Given the description of an element on the screen output the (x, y) to click on. 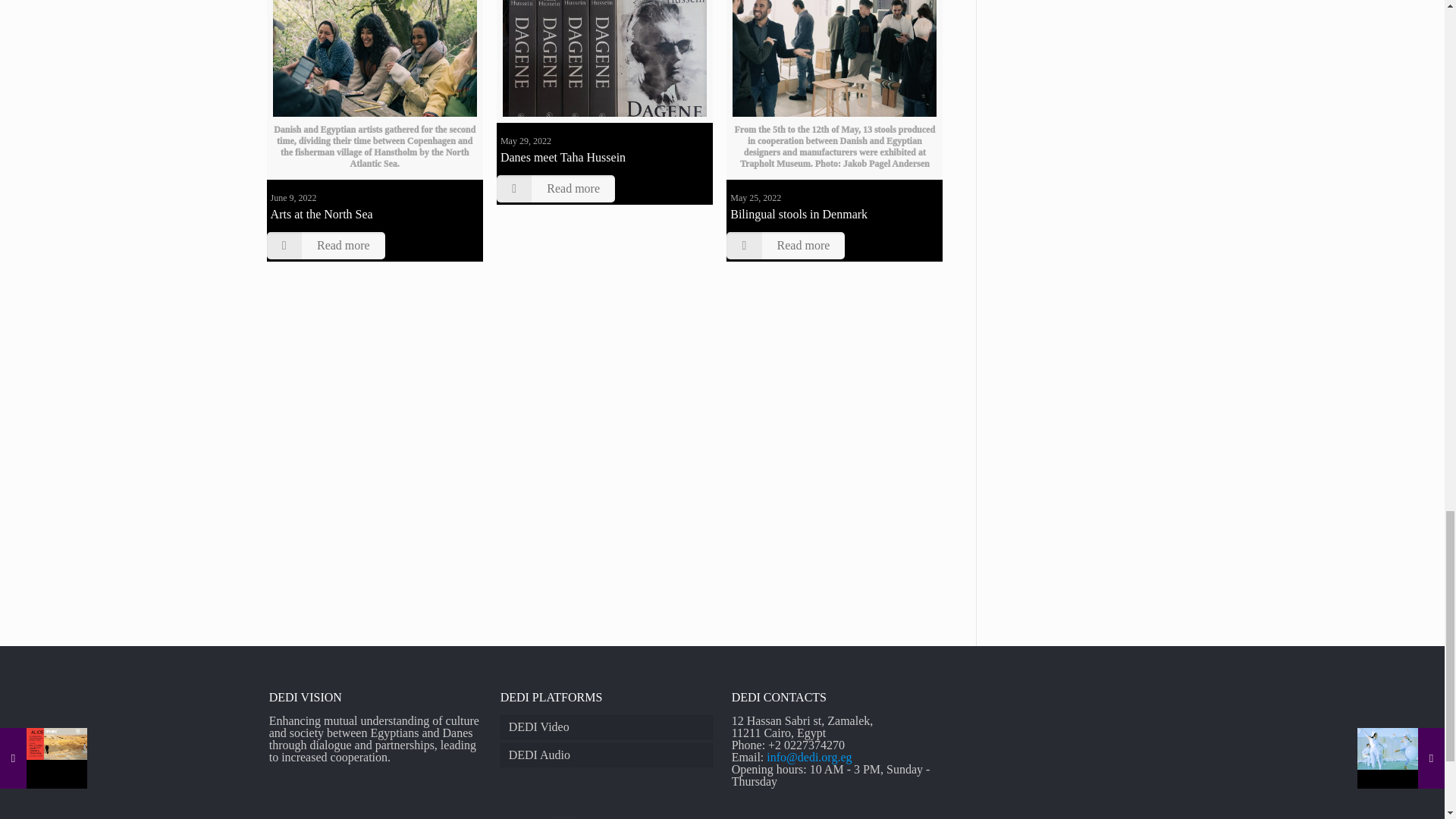
Danes meet Taha Hussein (563, 156)
Bilingual stools in Denmark (798, 214)
DEDI Video (606, 726)
Read more (555, 188)
Read more (785, 245)
DEDI Audio (606, 754)
Read more (325, 245)
Arts at the North Sea (321, 214)
